Given the description of an element on the screen output the (x, y) to click on. 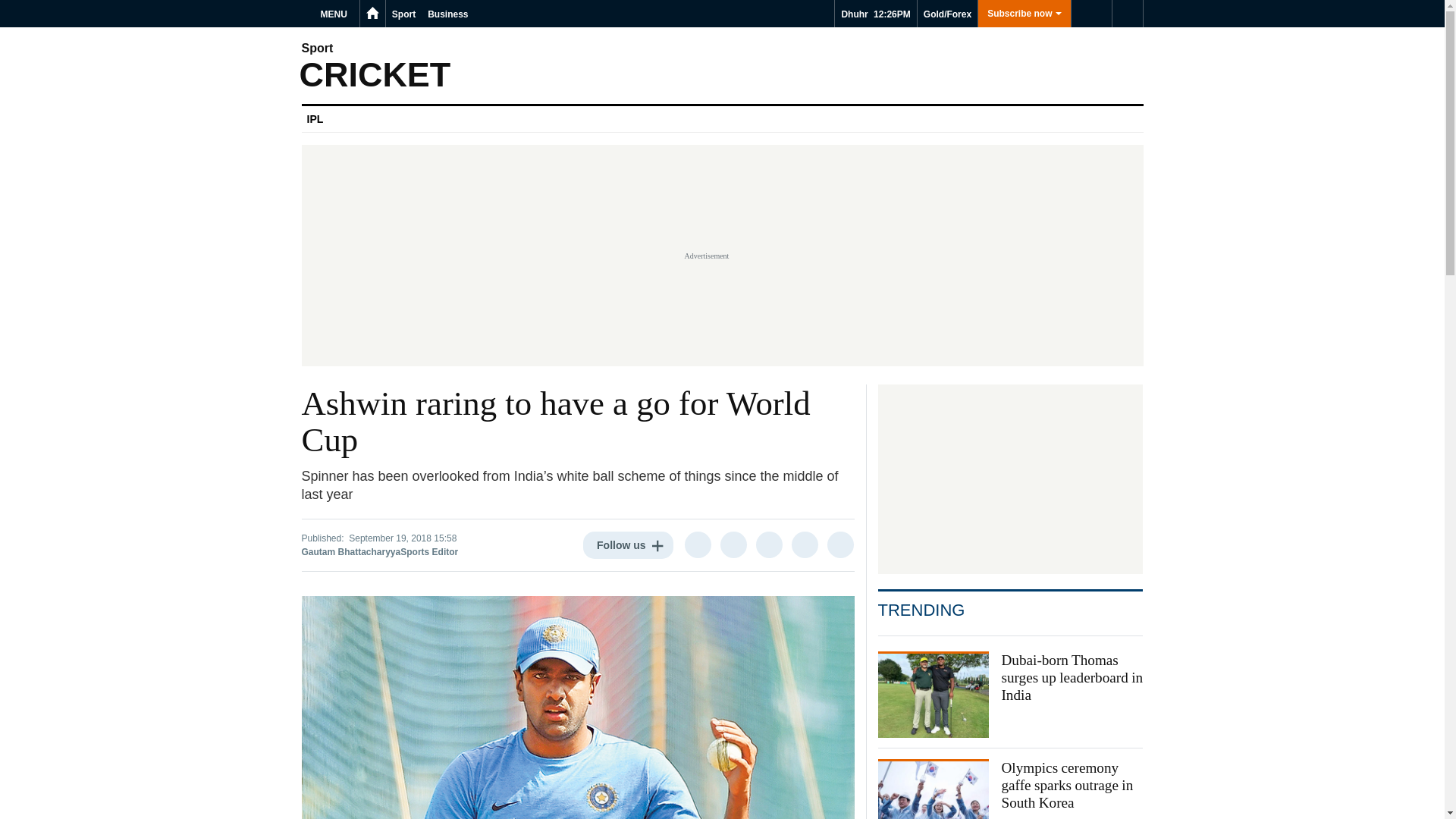
MENU (336, 13)
Business (448, 13)
Dhuhr 12:26PM (874, 13)
Sport (403, 13)
Subscribe now (1024, 13)
